Given the description of an element on the screen output the (x, y) to click on. 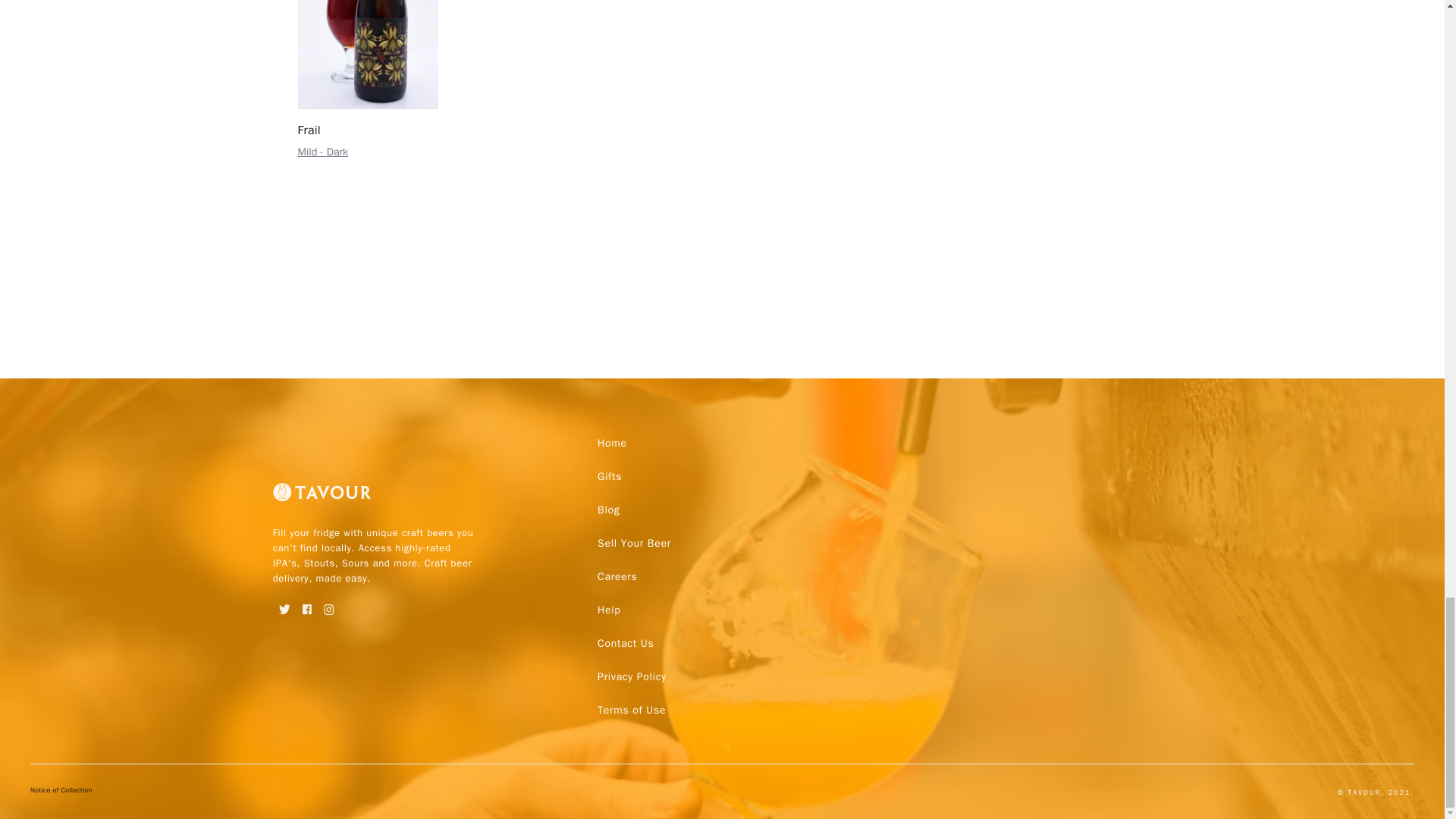
blog (608, 510)
home (612, 443)
Instagram (328, 604)
sell your beer (633, 543)
Help (608, 610)
Tavour (322, 498)
FAQ (631, 676)
FAQ (631, 710)
Careers (617, 576)
gifts (609, 476)
Twitter (285, 604)
Facebook (307, 604)
FAQ (625, 643)
